Given the description of an element on the screen output the (x, y) to click on. 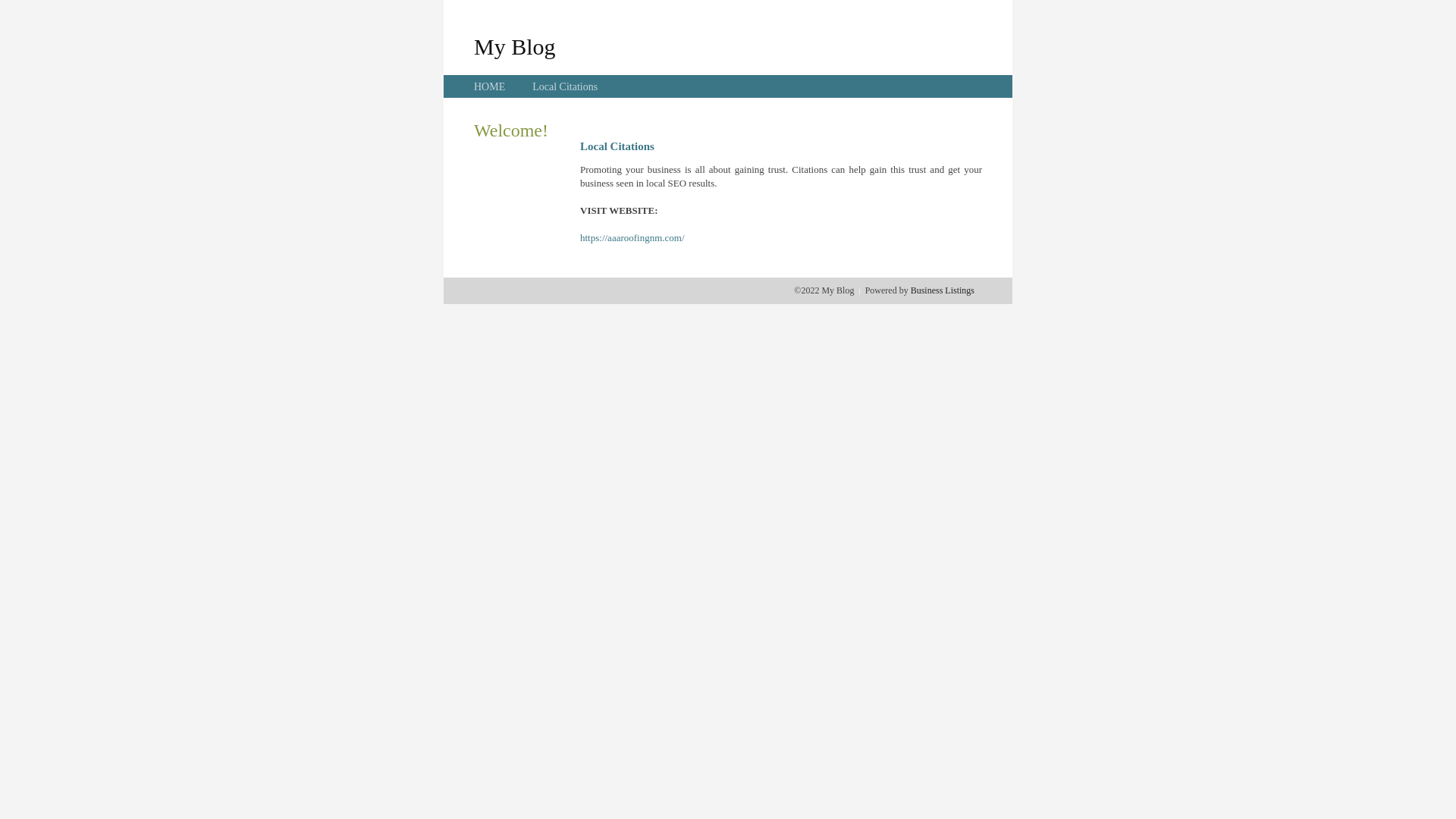
My Blog Element type: text (514, 46)
Local Citations Element type: text (564, 86)
Business Listings Element type: text (942, 290)
HOME Element type: text (489, 86)
https://aaaroofingnm.com/ Element type: text (632, 237)
